Given the description of an element on the screen output the (x, y) to click on. 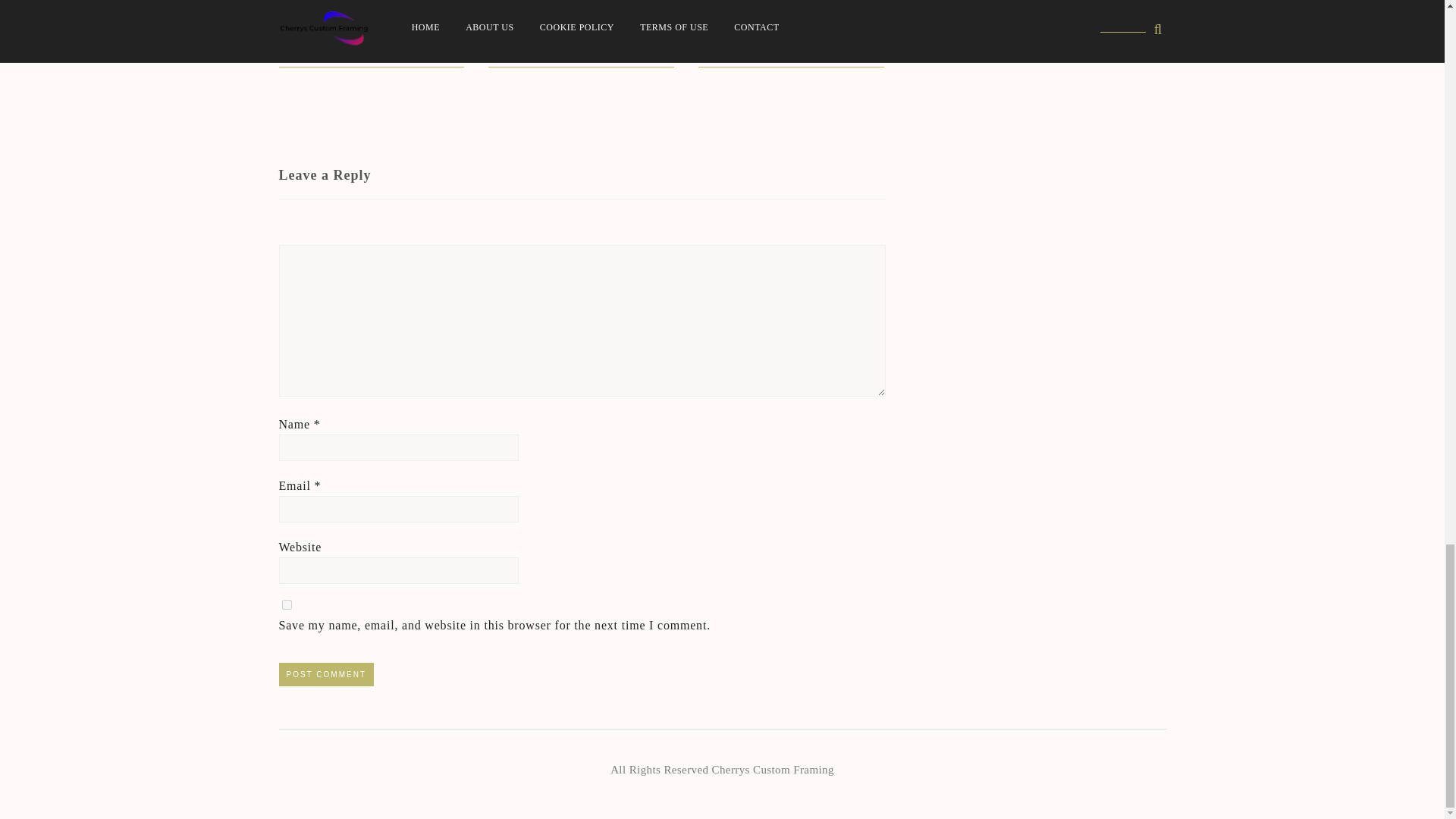
Top Cardiovascular Health Tips For A Stronger Heart (790, 43)
The Ultimate Gaming Stimulator Tool for Pro Gamers (371, 43)
Post Comment (326, 674)
yes (287, 604)
Post Comment (326, 674)
New Easy-To-Use App Revolutionizes Productivity (581, 43)
